Given the description of an element on the screen output the (x, y) to click on. 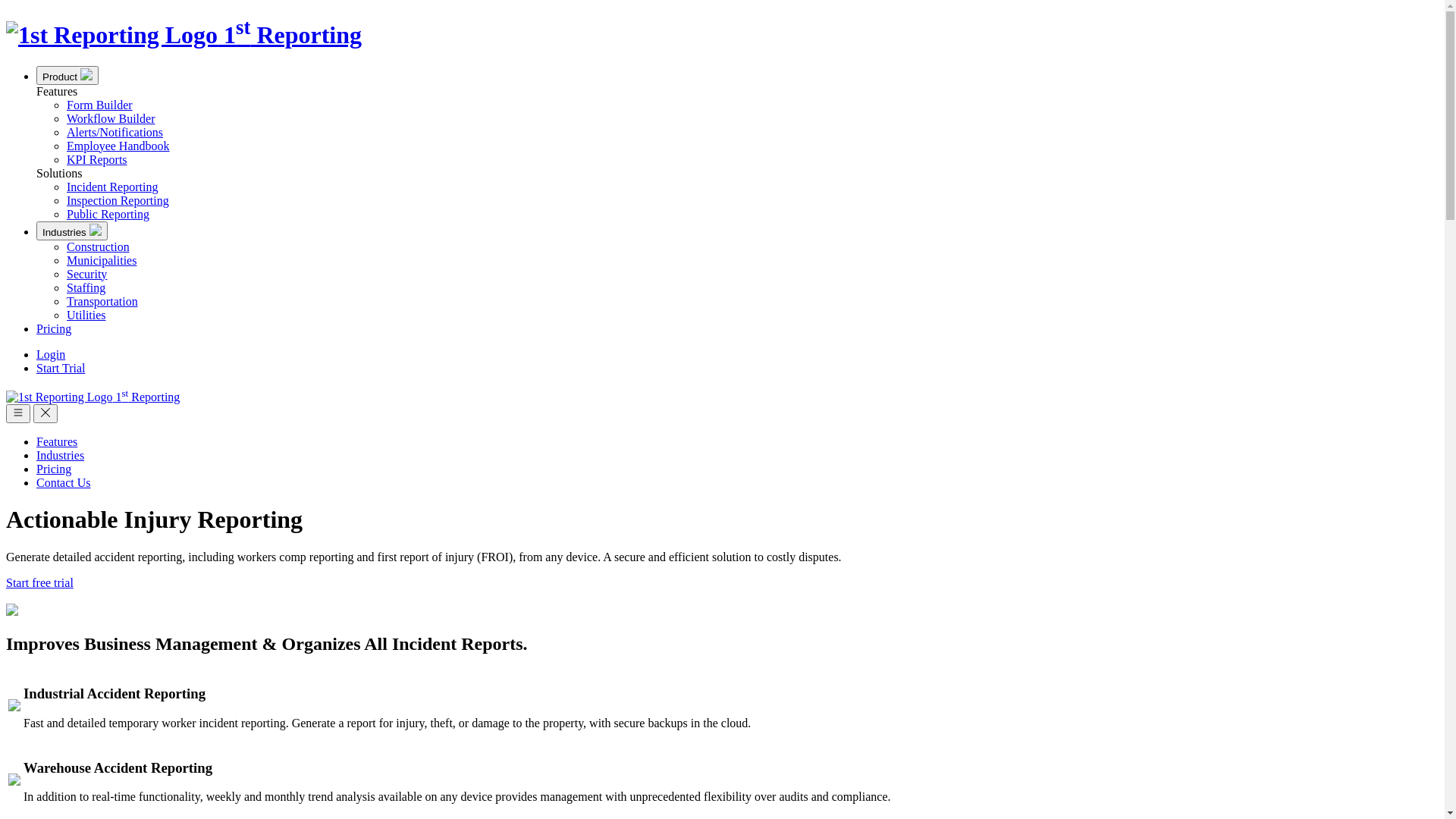
Security Element type: text (86, 273)
Start free trial Element type: text (39, 582)
1st Reporting Element type: text (183, 34)
Industries Element type: text (60, 454)
Start Trial Element type: text (60, 367)
Staffing Element type: text (85, 287)
Inspection Reporting Element type: text (117, 200)
Industries Element type: text (71, 230)
Login Element type: text (50, 354)
Construction Element type: text (97, 246)
Municipalities Element type: text (101, 260)
Features Element type: text (56, 441)
Pricing Element type: text (53, 328)
Product Element type: text (67, 74)
Pricing Element type: text (53, 468)
Alerts/Notifications Element type: text (114, 131)
Contact Us Element type: text (63, 482)
Utilities Element type: text (86, 314)
Public Reporting Element type: text (107, 213)
KPI Reports Element type: text (96, 159)
Workflow Builder Element type: text (110, 118)
Employee Handbook Element type: text (117, 145)
Form Builder Element type: text (99, 104)
Incident Reporting Element type: text (111, 186)
Transportation Element type: text (102, 300)
1st Reporting Element type: text (92, 396)
